Given the description of an element on the screen output the (x, y) to click on. 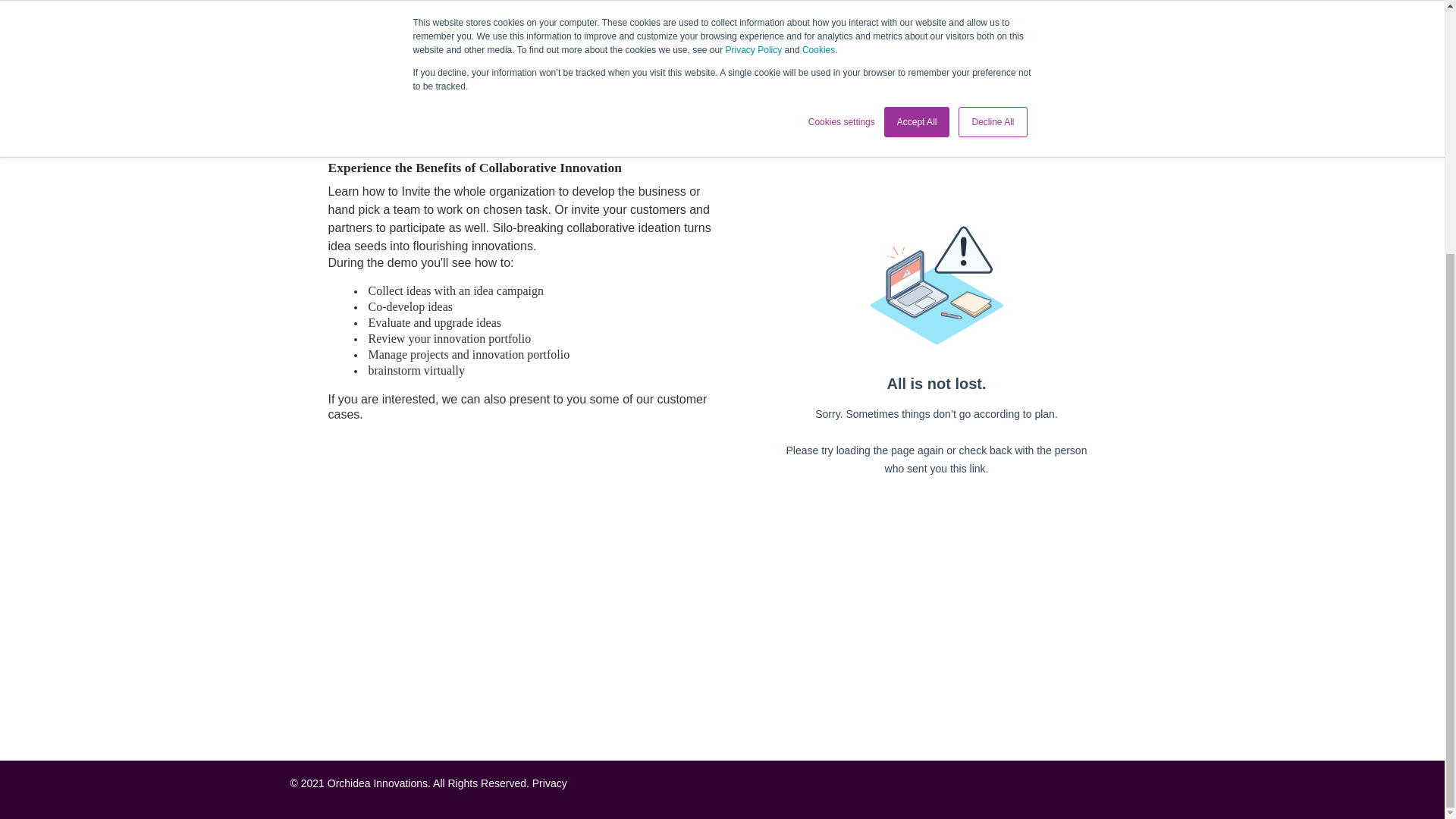
Privacy (549, 783)
